Given the description of an element on the screen output the (x, y) to click on. 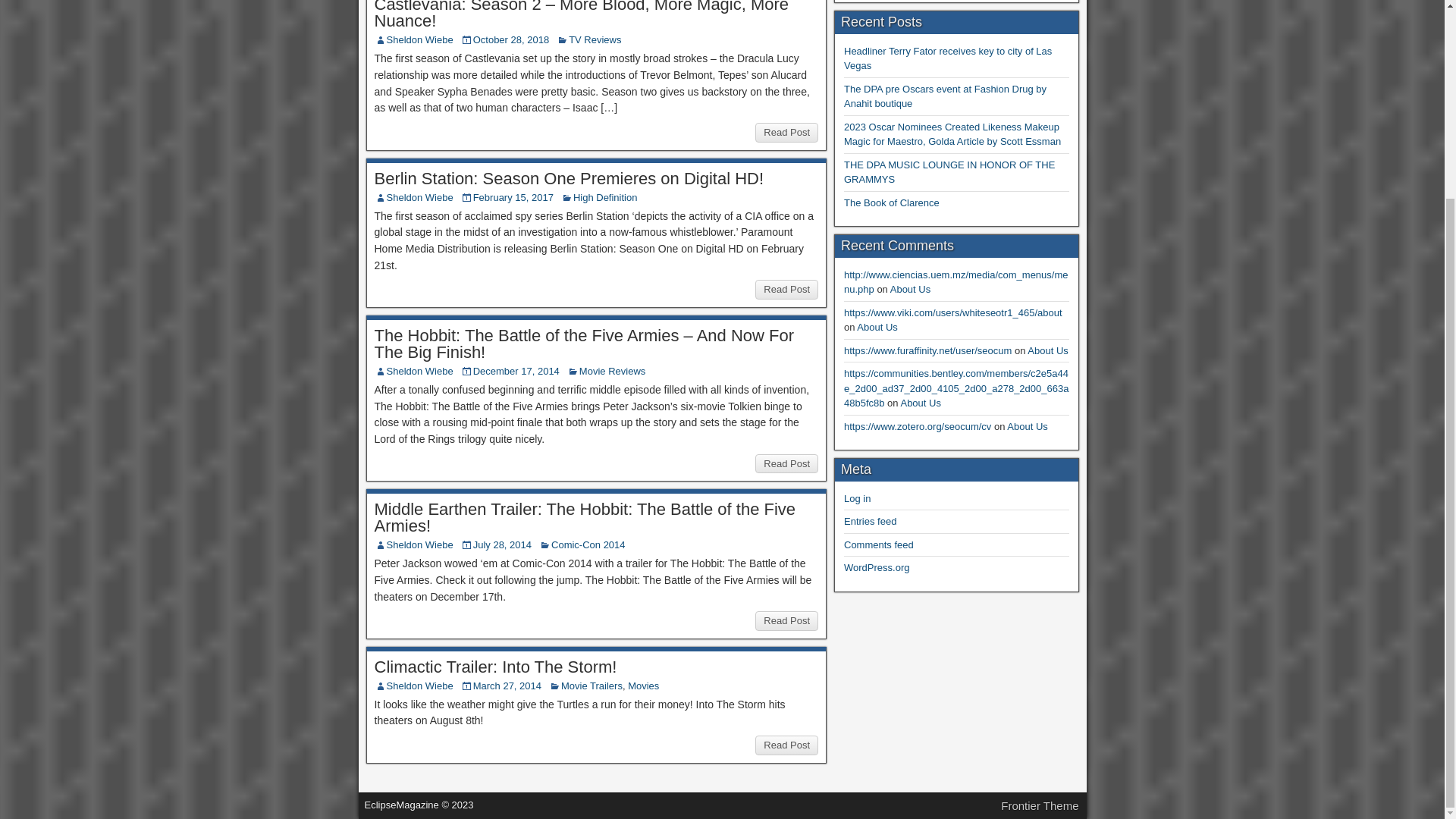
Comic-Con 2014 (588, 544)
December 17, 2014 (516, 370)
March 27, 2014 (507, 685)
Sheldon Wiebe (419, 39)
Movies (643, 685)
February 15, 2017 (513, 197)
Read Post (786, 289)
Read Post (786, 745)
High Definition (605, 197)
Sheldon Wiebe (419, 370)
Sheldon Wiebe (419, 685)
July 28, 2014 (502, 544)
Movie Trailers (591, 685)
Berlin Station: Season One Premieres on Digital HD! (569, 178)
